Given the description of an element on the screen output the (x, y) to click on. 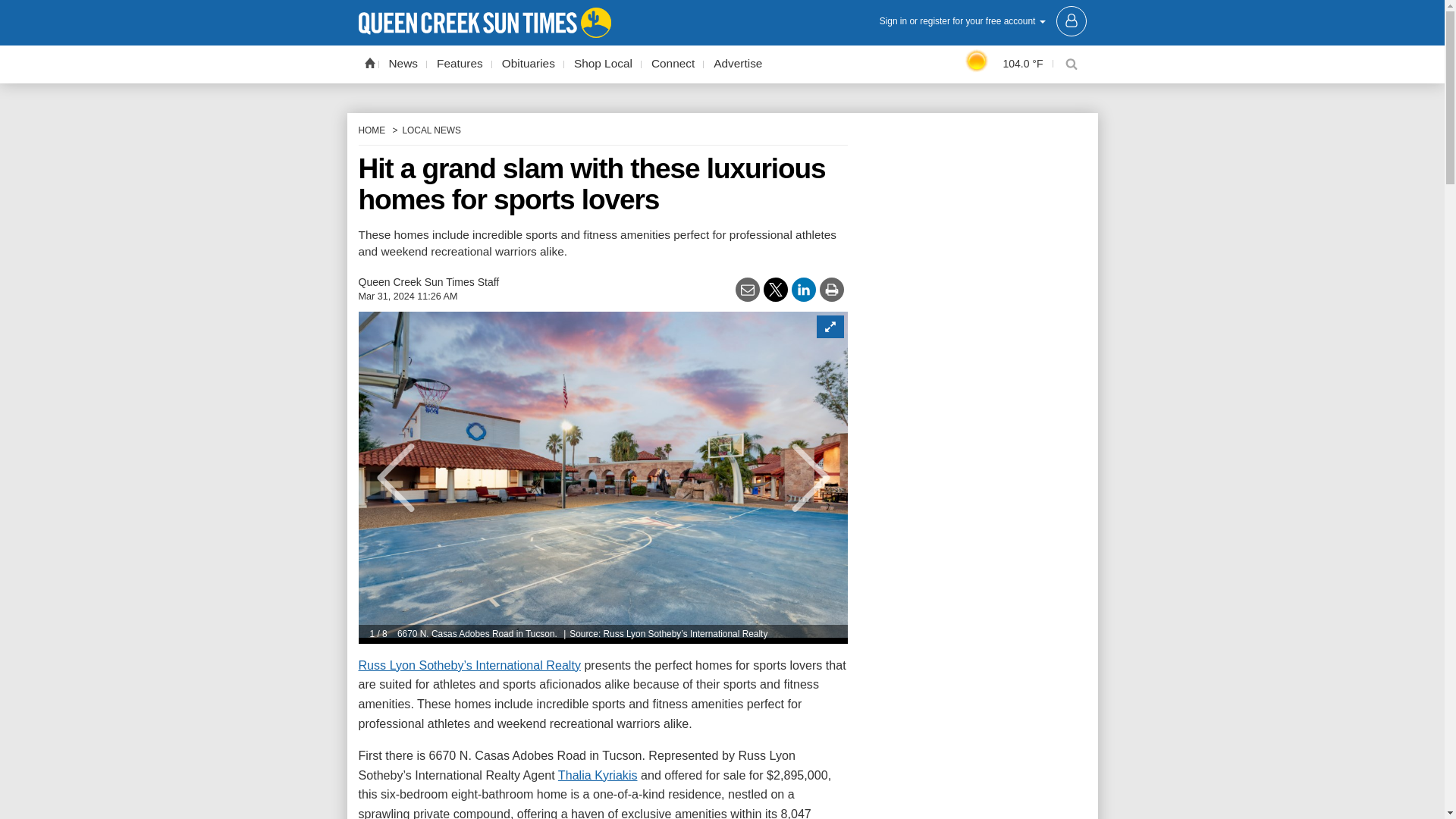
News (403, 64)
3rd party ad content (972, 688)
Home (368, 62)
Sign in or register for your free account (982, 20)
3rd party ad content (972, 809)
Advertise (737, 64)
Obituaries (528, 64)
Expand (829, 326)
HOME (371, 130)
Shop Local (603, 64)
LOCAL NEWS (431, 130)
